Given the description of an element on the screen output the (x, y) to click on. 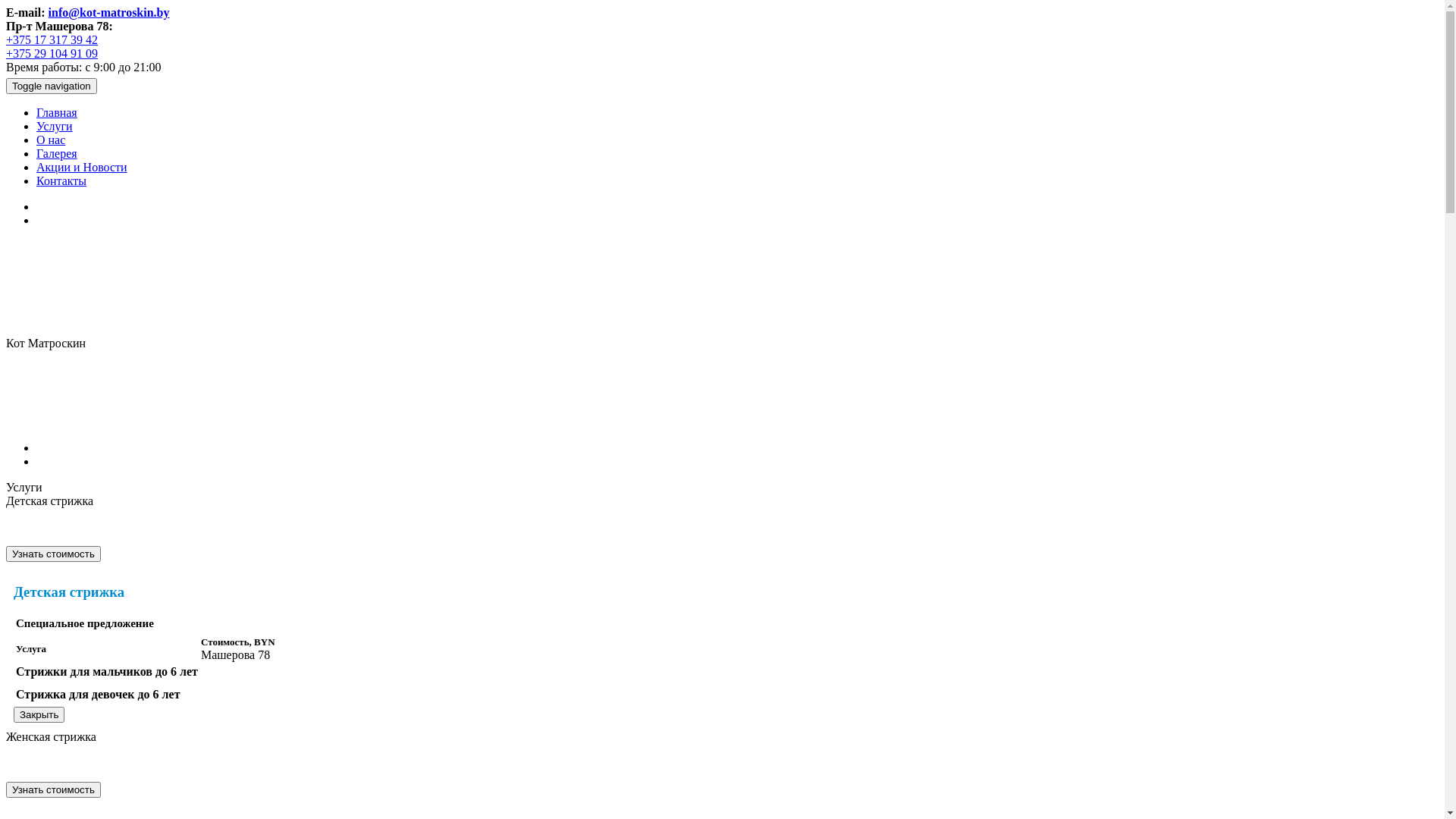
+375 17 317 39 42 Element type: text (51, 39)
+375 29 104 91 09 Element type: text (51, 53)
info@kot-matroskin.by Element type: text (108, 12)
Toggle navigation Element type: text (51, 86)
